Given the description of an element on the screen output the (x, y) to click on. 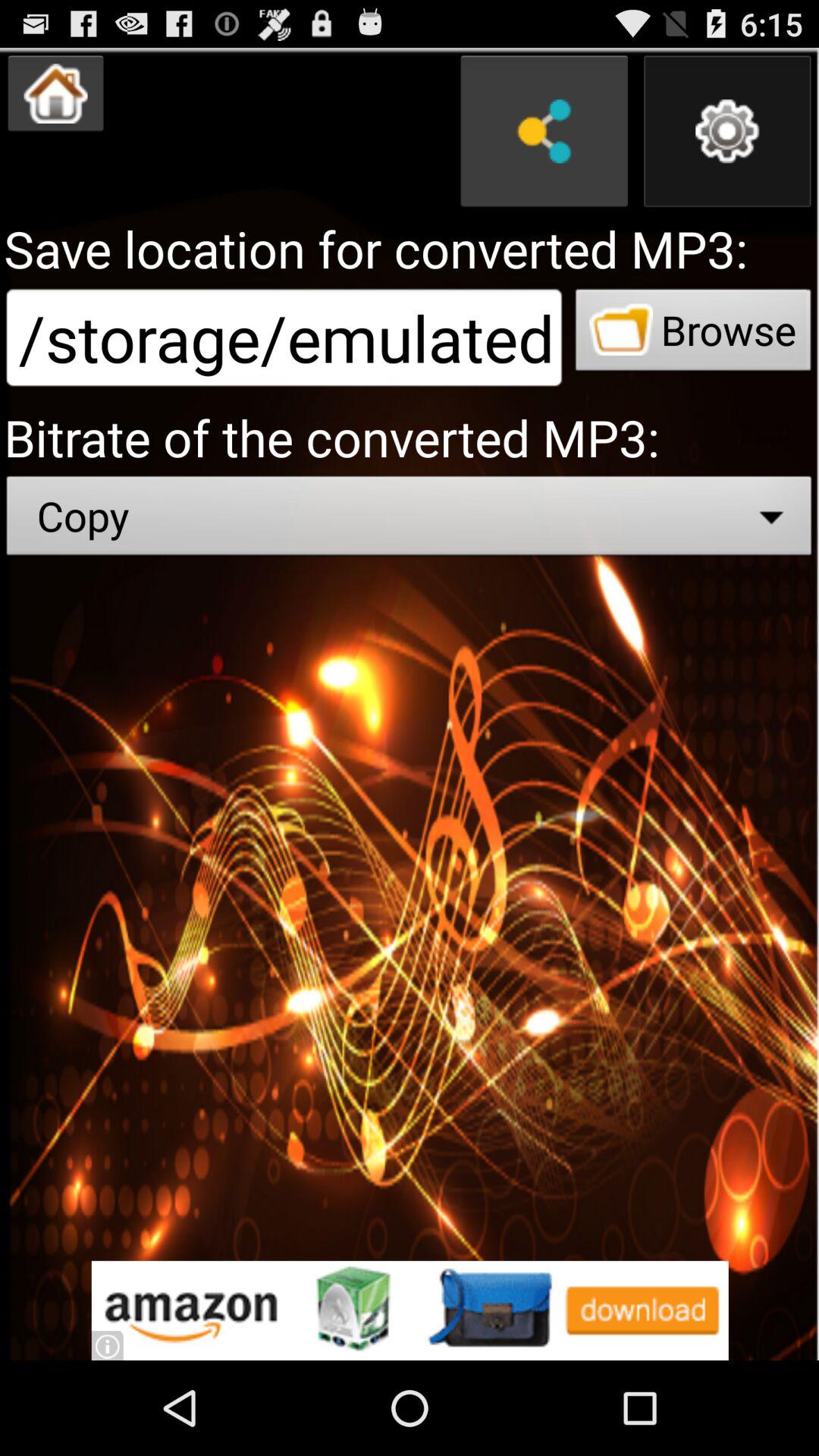
go to settings (727, 130)
